Given the description of an element on the screen output the (x, y) to click on. 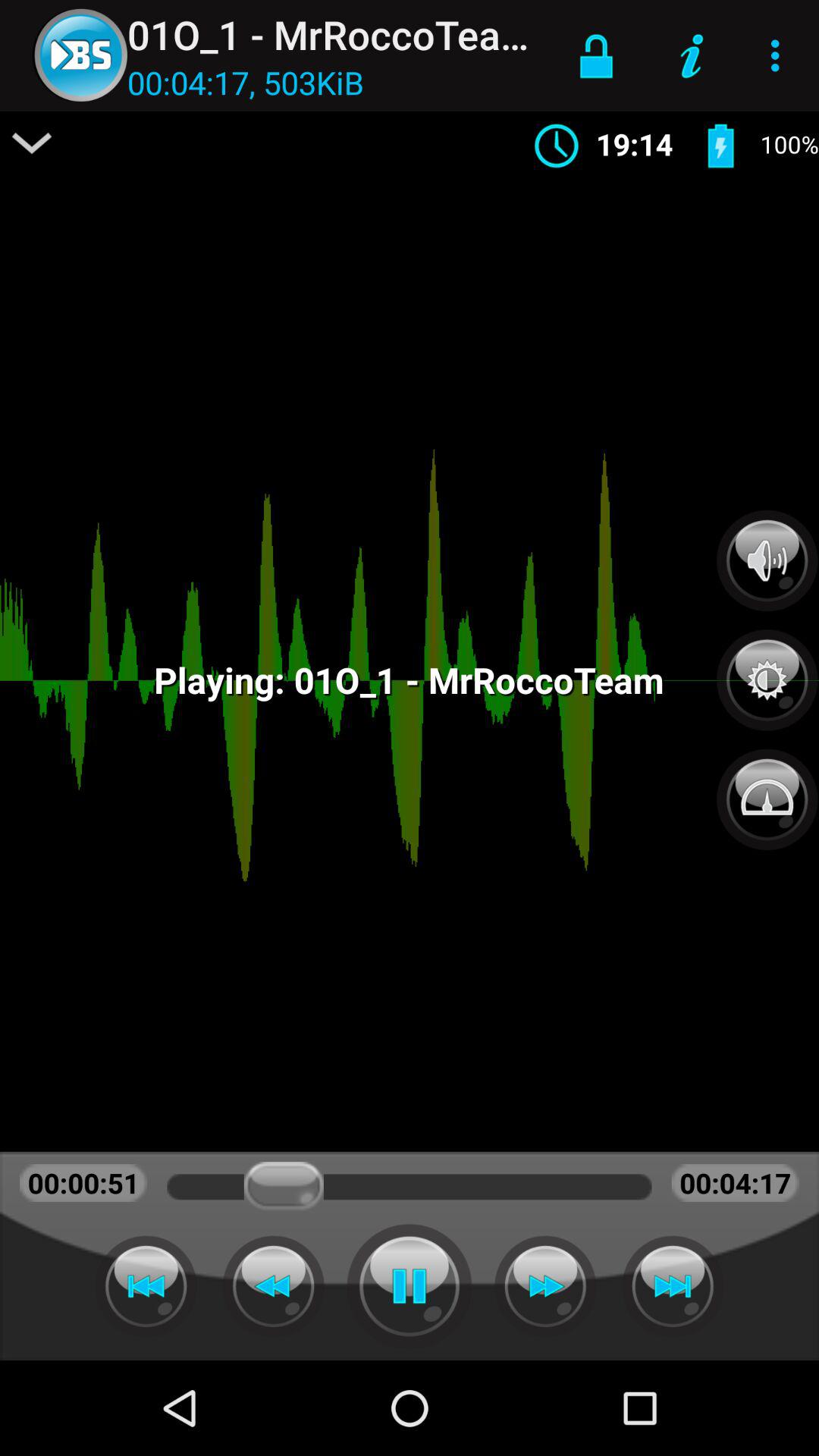
backward button (145, 1286)
